Given the description of an element on the screen output the (x, y) to click on. 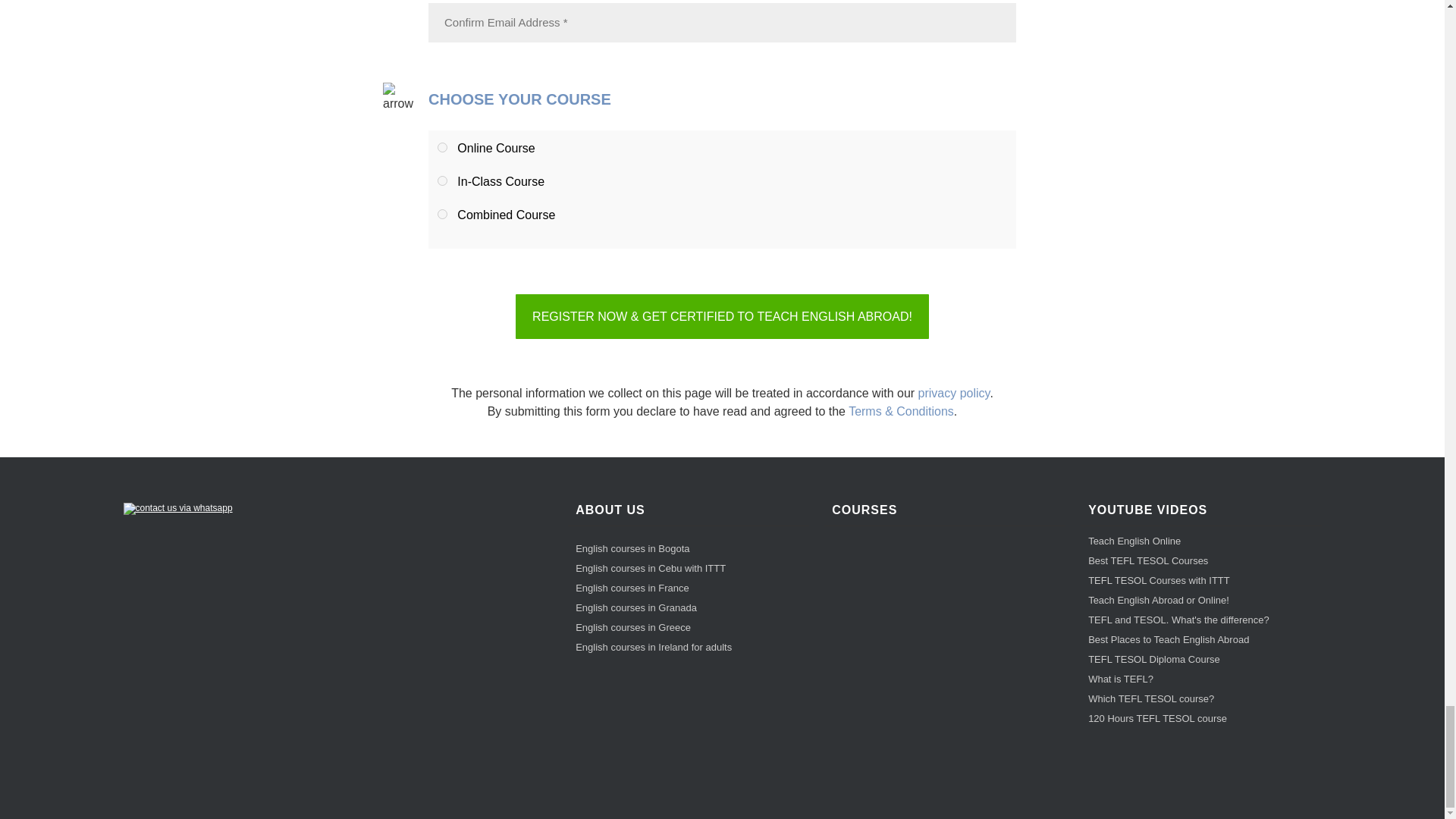
Online Course (442, 147)
Intensive Course (442, 180)
Combined Course (442, 214)
